Given the description of an element on the screen output the (x, y) to click on. 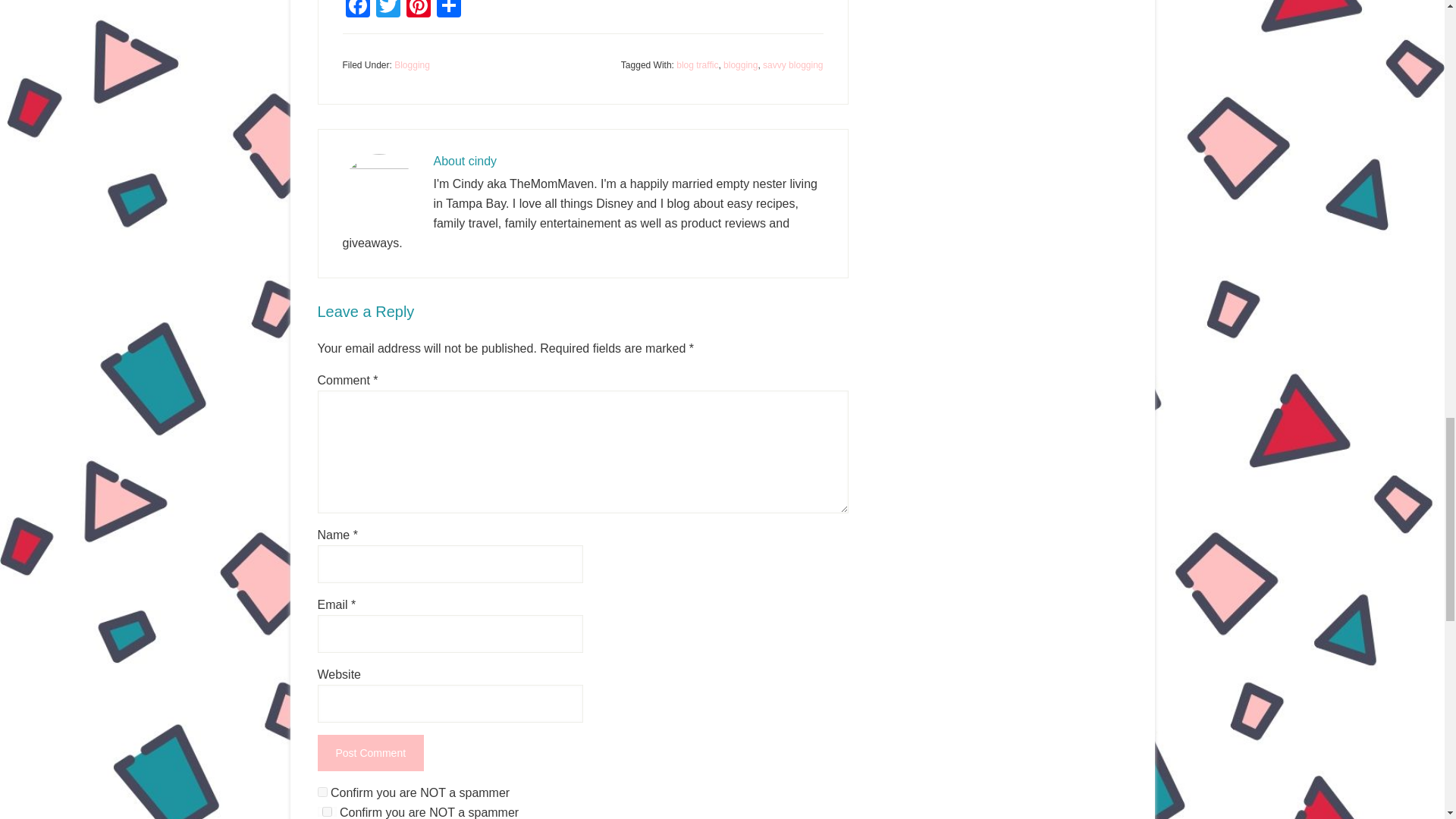
Facebook (357, 10)
on (326, 811)
Post Comment (370, 752)
Pinterest (418, 10)
Twitter (387, 10)
on (321, 791)
